Given the description of an element on the screen output the (x, y) to click on. 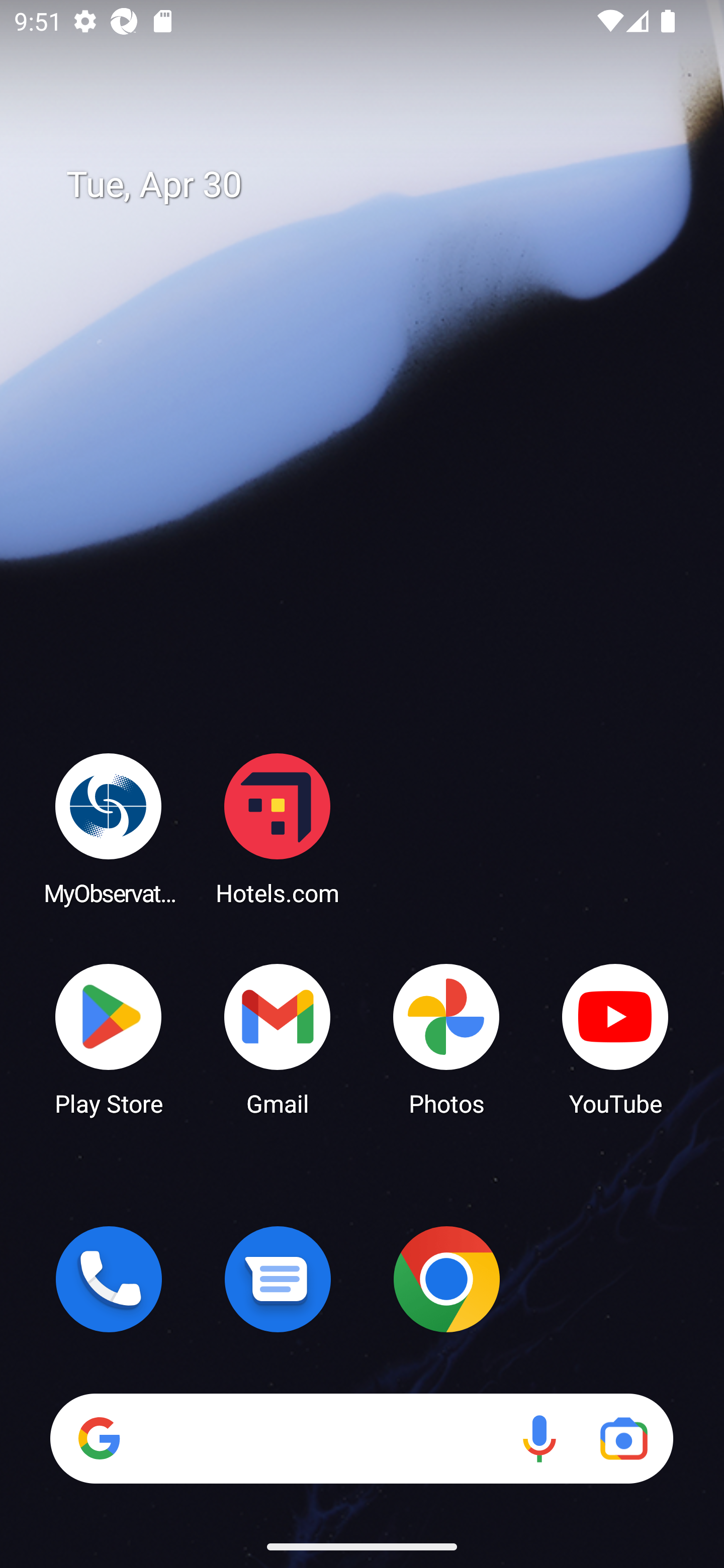
Tue, Apr 30 (375, 184)
MyObservatory (108, 828)
Hotels.com (277, 828)
Play Store (108, 1038)
Gmail (277, 1038)
Photos (445, 1038)
YouTube (615, 1038)
Phone (108, 1279)
Messages (277, 1279)
Chrome (446, 1279)
Voice search (539, 1438)
Google Lens (623, 1438)
